Given the description of an element on the screen output the (x, y) to click on. 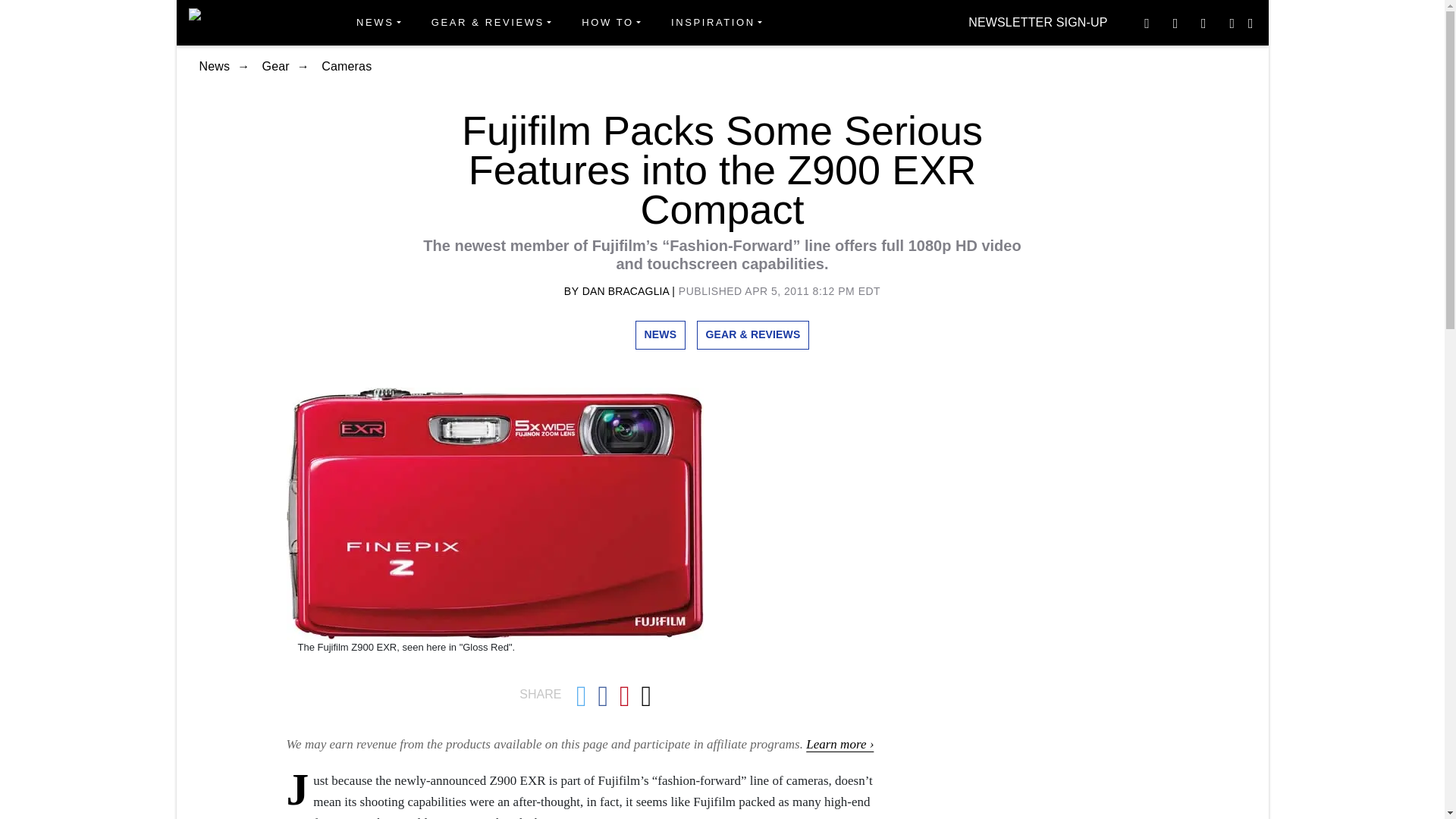
Inspiration (716, 22)
How To (610, 22)
Popular Photography (242, 22)
News (378, 22)
HOW TO (610, 22)
INSPIRATION (716, 22)
NEWS (378, 22)
